Given the description of an element on the screen output the (x, y) to click on. 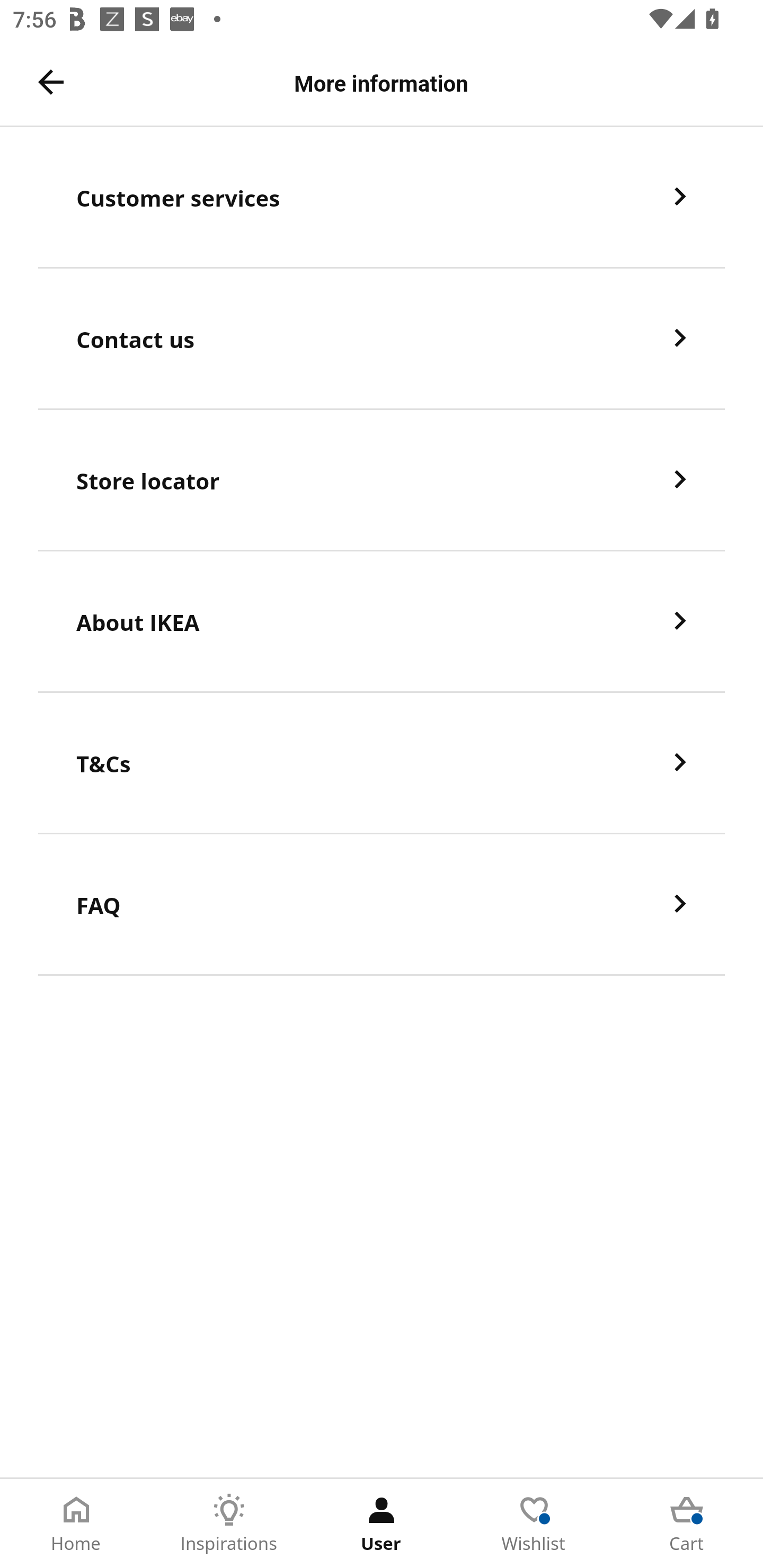
Customer services (381, 197)
Contact us (381, 338)
Store locator (381, 480)
About IKEA (381, 622)
T&Cs (381, 763)
FAQ (381, 904)
Home
Tab 1 of 5 (76, 1522)
Inspirations
Tab 2 of 5 (228, 1522)
User
Tab 3 of 5 (381, 1522)
Wishlist
Tab 4 of 5 (533, 1522)
Cart
Tab 5 of 5 (686, 1522)
